Given the description of an element on the screen output the (x, y) to click on. 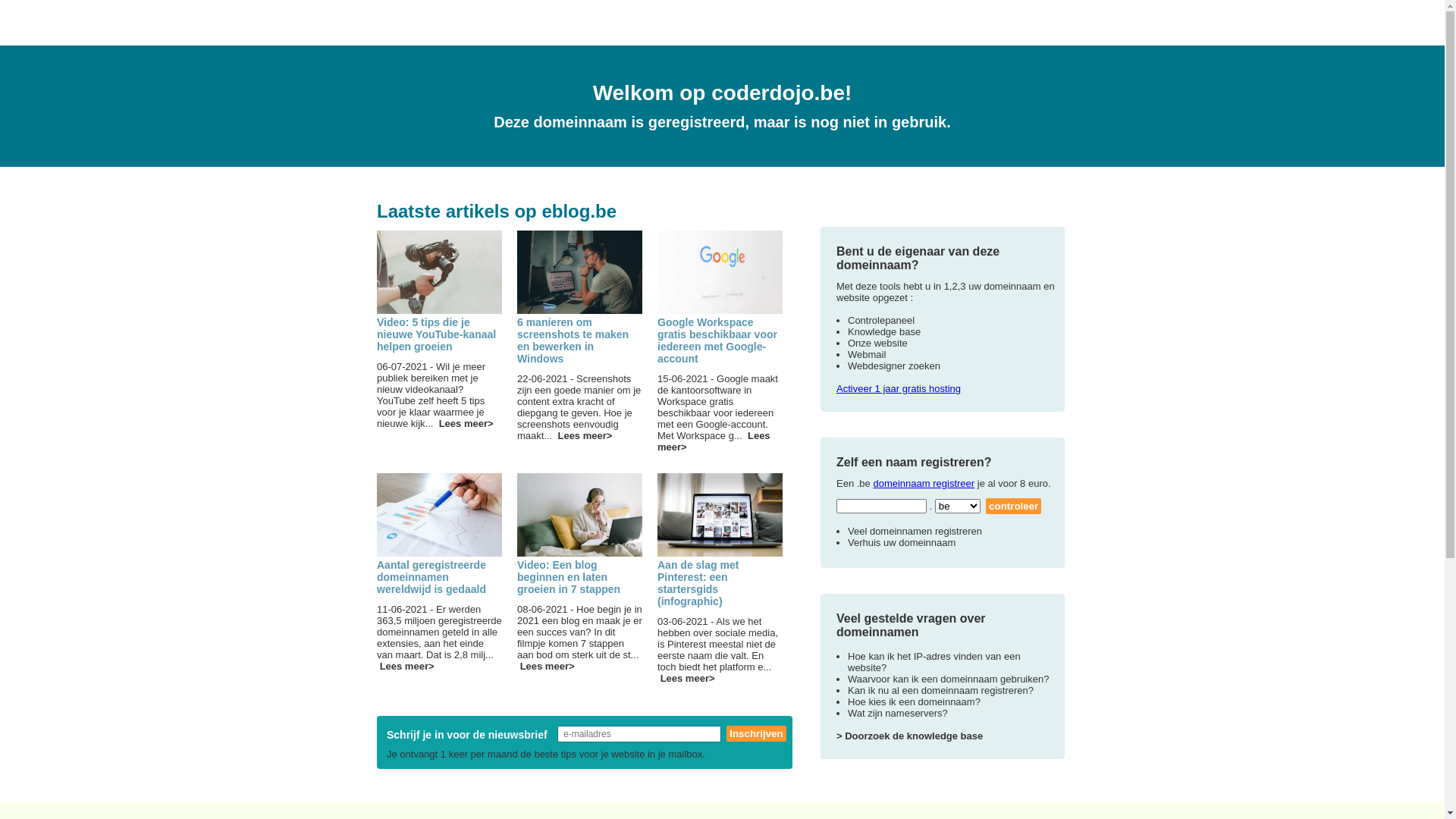
Inschrijven Element type: text (755, 733)
domeinnaam registreer Element type: text (923, 483)
Laatste artikels op eblog.be Element type: text (496, 210)
Hoe kies ik een domeinnaam? Element type: text (913, 701)
Webdesigner zoeken Element type: text (893, 365)
controleer Element type: text (1013, 506)
> Doorzoek de knowledge base Element type: text (909, 735)
Hoe kan ik het IP-adres vinden van een website? Element type: text (933, 661)
Veel domeinnamen registreren Element type: text (914, 530)
Kan ik nu al een domeinnaam registreren? Element type: text (940, 690)
Verhuis uw domeinnaam Element type: text (901, 542)
Wat zijn nameservers? Element type: text (897, 712)
Activeer 1 jaar gratis hosting Element type: text (898, 388)
Webmail Element type: text (866, 354)
Waarvoor kan ik een domeinnaam gebruiken? Element type: text (947, 678)
Onze website Element type: text (877, 342)
Knowledge base Element type: text (883, 331)
Controlepaneel Element type: text (880, 320)
